Given the description of an element on the screen output the (x, y) to click on. 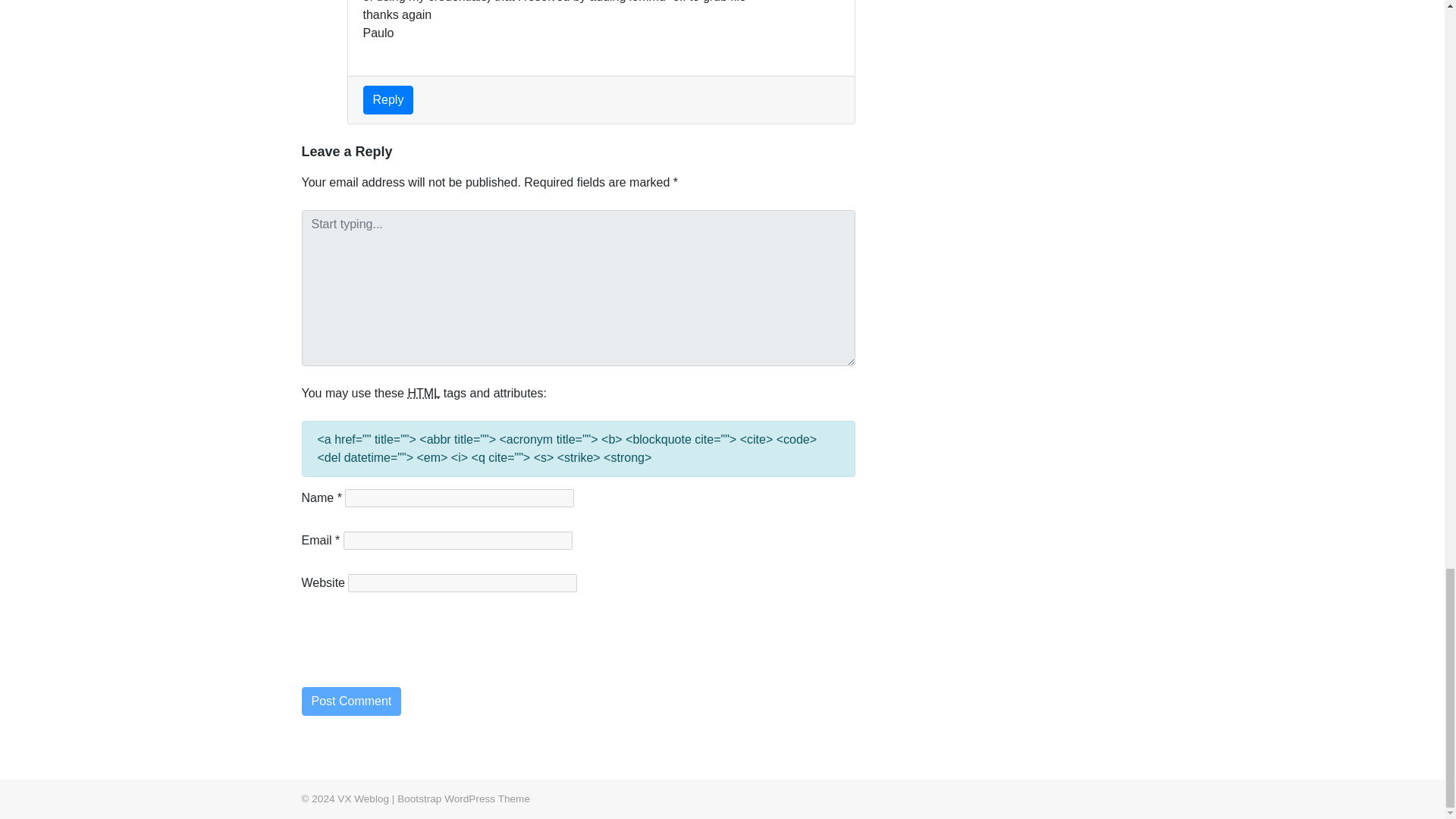
Post Comment (351, 701)
WordPress Technical Support (463, 798)
Reply (387, 99)
HyperText Markup Language (423, 392)
Post Comment (351, 701)
Bootstrap WordPress Theme (463, 798)
VX Weblog (362, 798)
reCAPTCHA (416, 652)
